Given the description of an element on the screen output the (x, y) to click on. 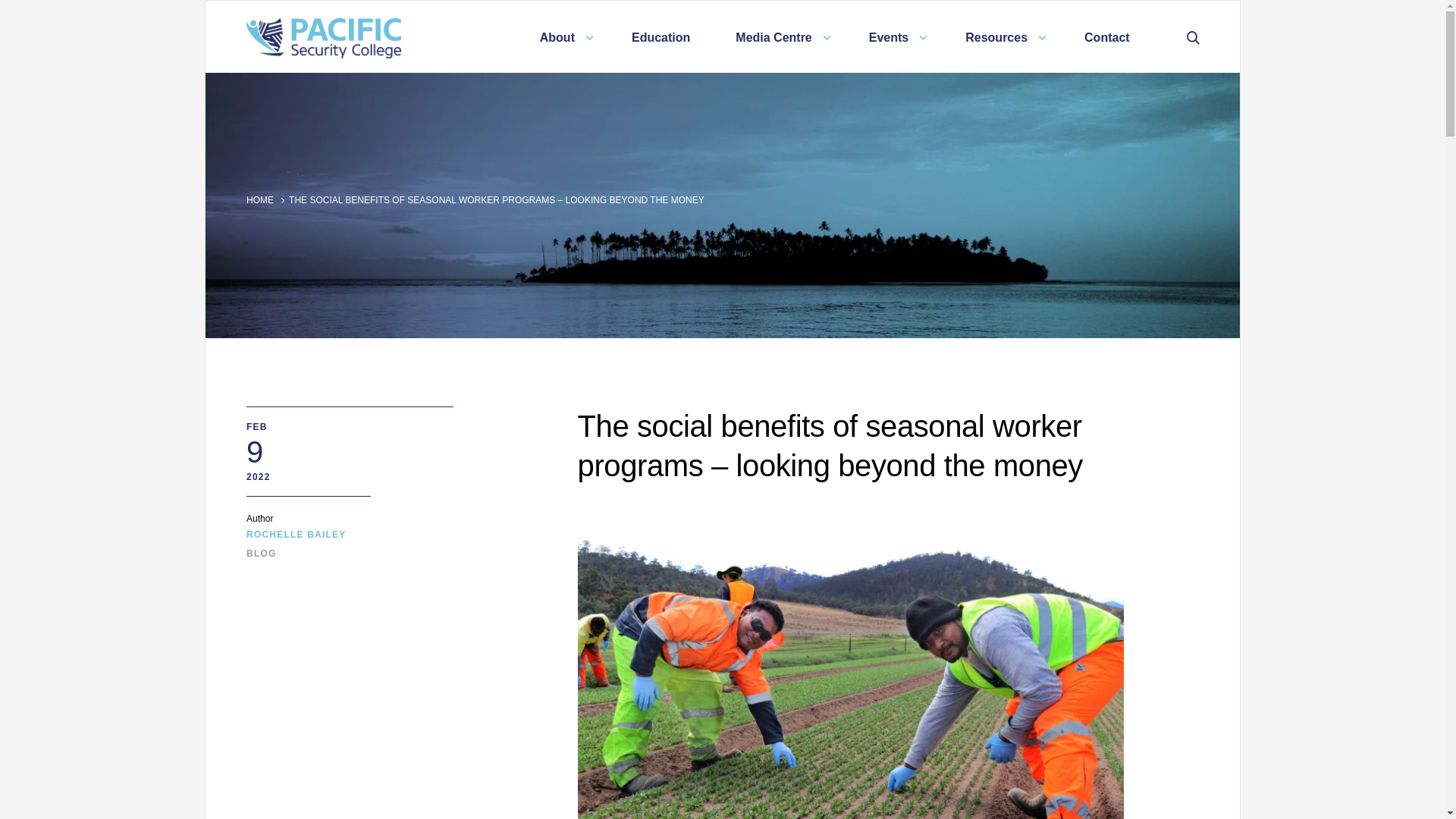
About (562, 36)
Search (1196, 36)
Pacific Security College Home (381, 38)
Education (660, 36)
Resources (1001, 36)
Events (893, 36)
Media Centre (779, 36)
Contact (1107, 36)
